Given the description of an element on the screen output the (x, y) to click on. 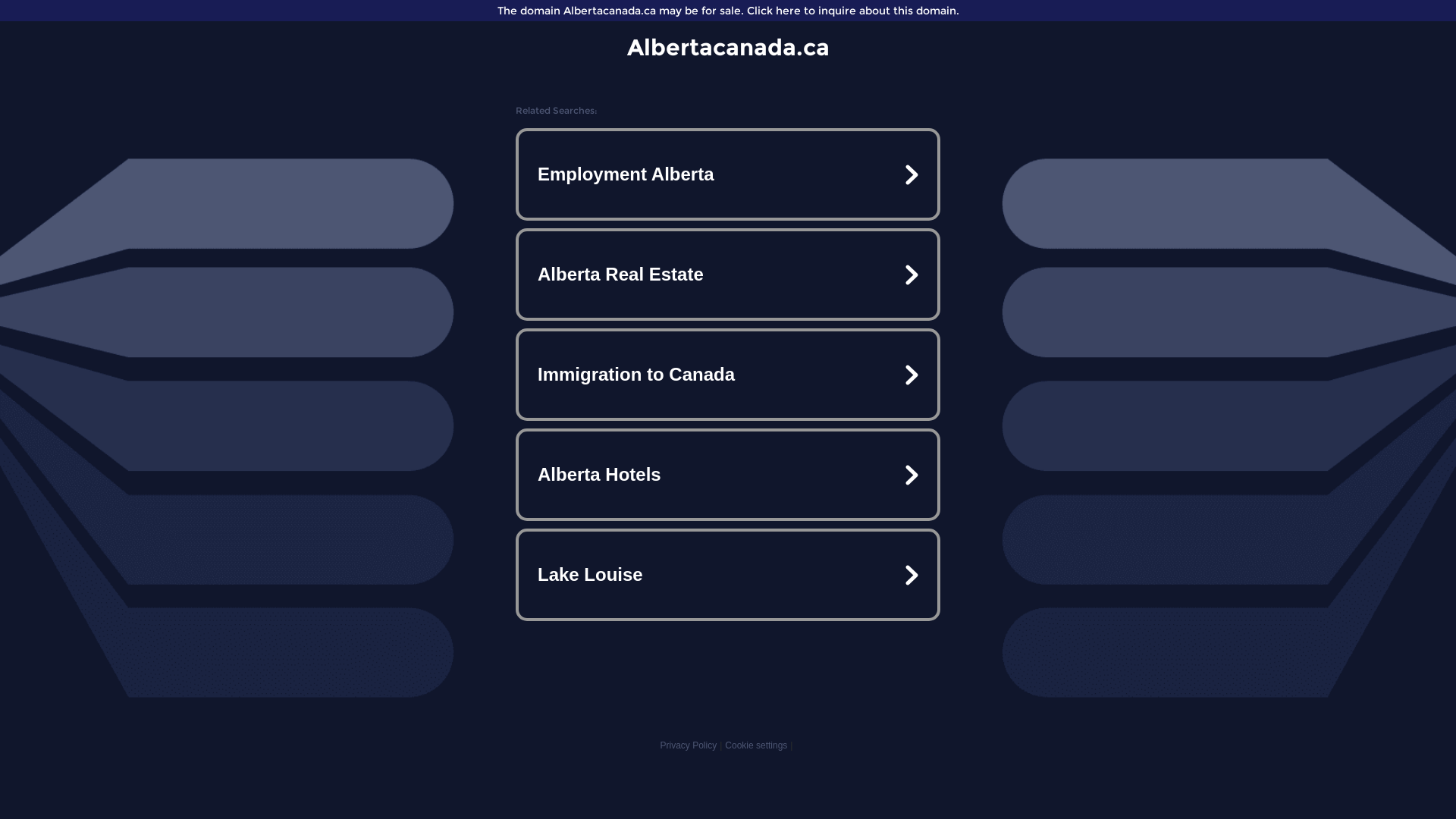
Albertacanada.ca Element type: text (727, 47)
Privacy Policy Element type: text (687, 745)
Alberta Real Estate Element type: text (727, 274)
Alberta Hotels Element type: text (727, 474)
Employment Alberta Element type: text (727, 174)
Cookie settings Element type: text (755, 745)
Immigration to Canada Element type: text (727, 374)
Lake Louise Element type: text (727, 574)
